Given the description of an element on the screen output the (x, y) to click on. 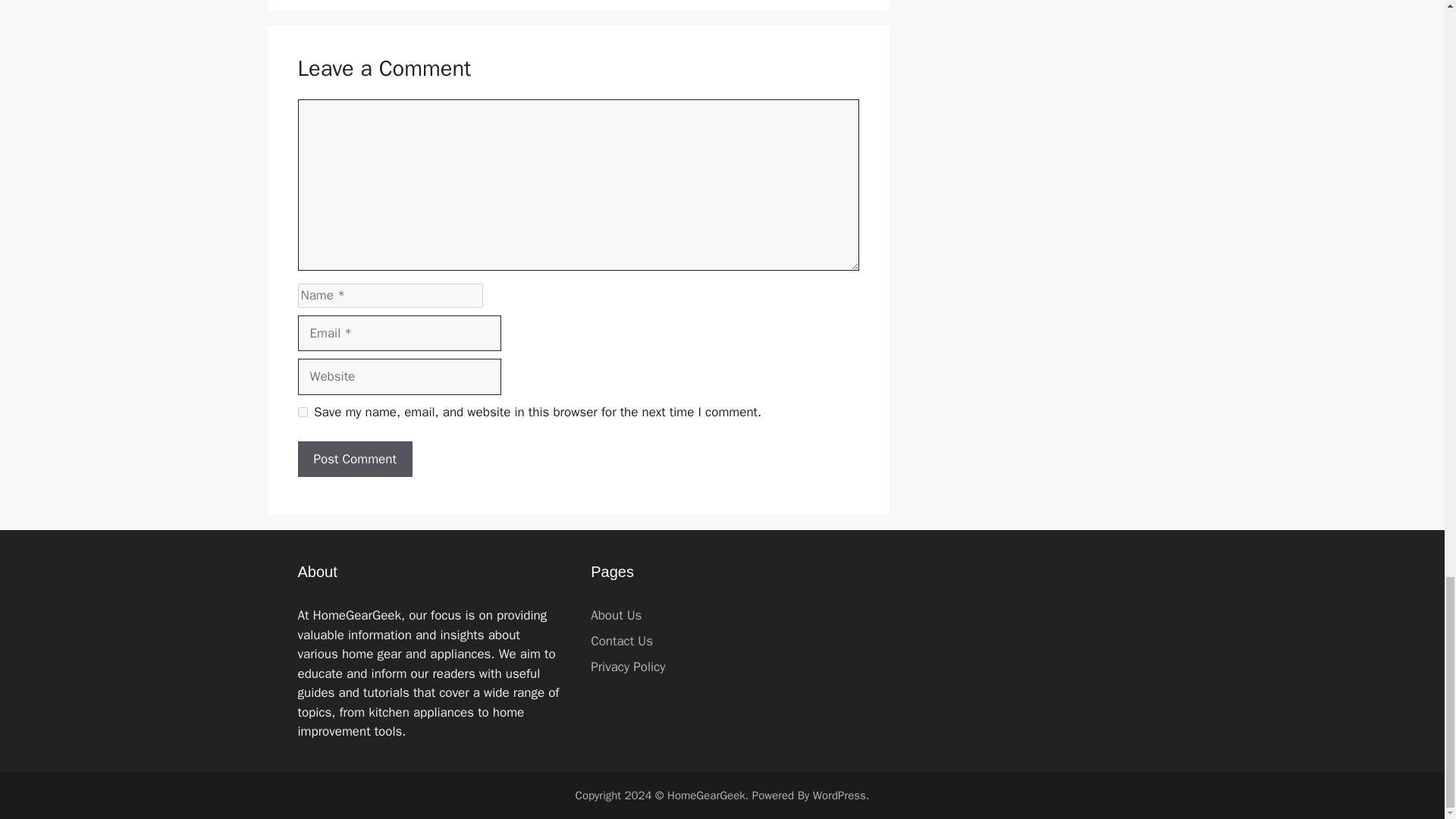
Privacy Policy (628, 666)
WordPress (839, 795)
Post Comment (354, 459)
About Us (616, 615)
yes (302, 411)
Post Comment (354, 459)
Contact Us (621, 641)
HomeGearGeek (705, 795)
